Given the description of an element on the screen output the (x, y) to click on. 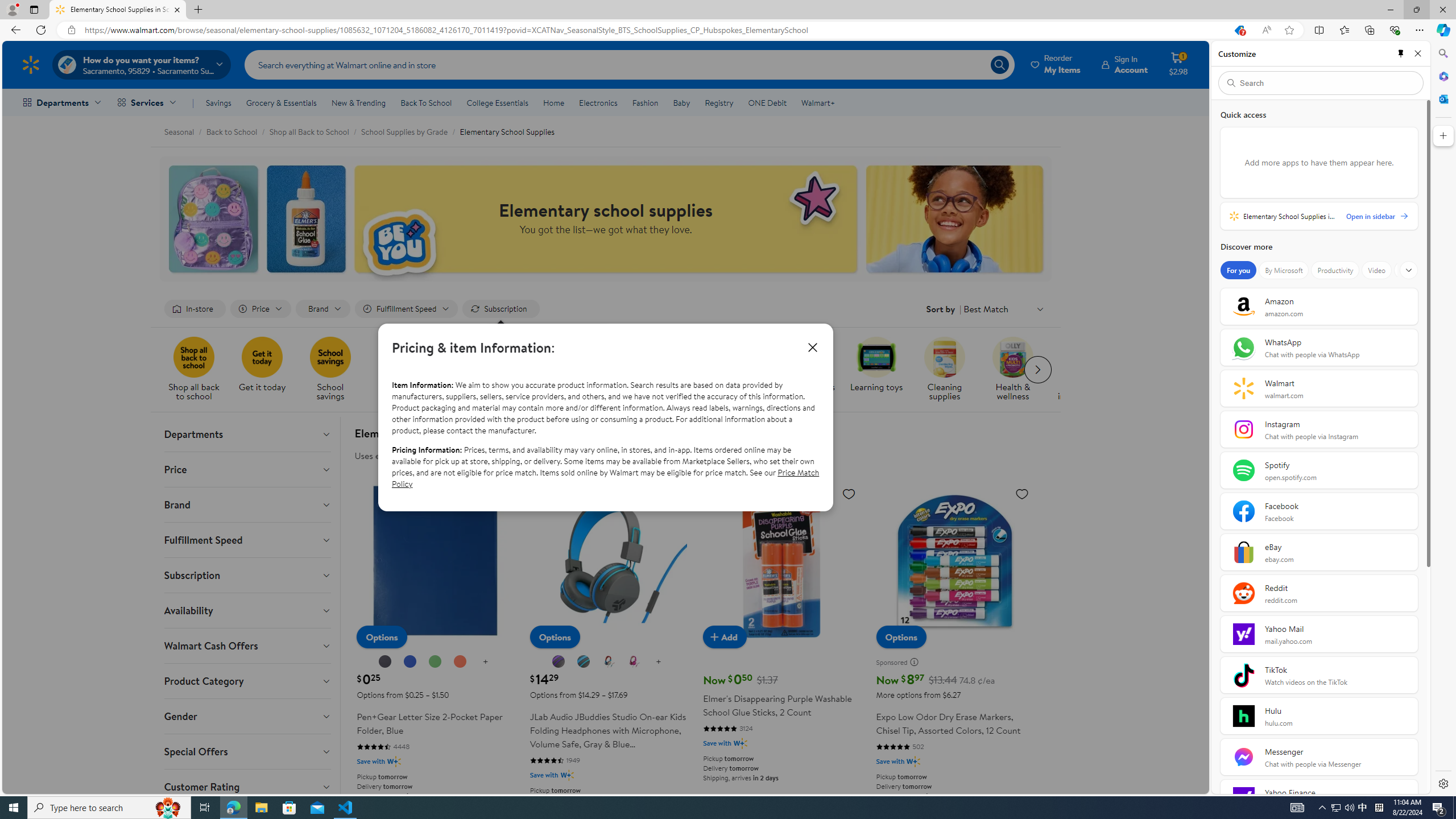
For you (1238, 270)
